Given the description of an element on the screen output the (x, y) to click on. 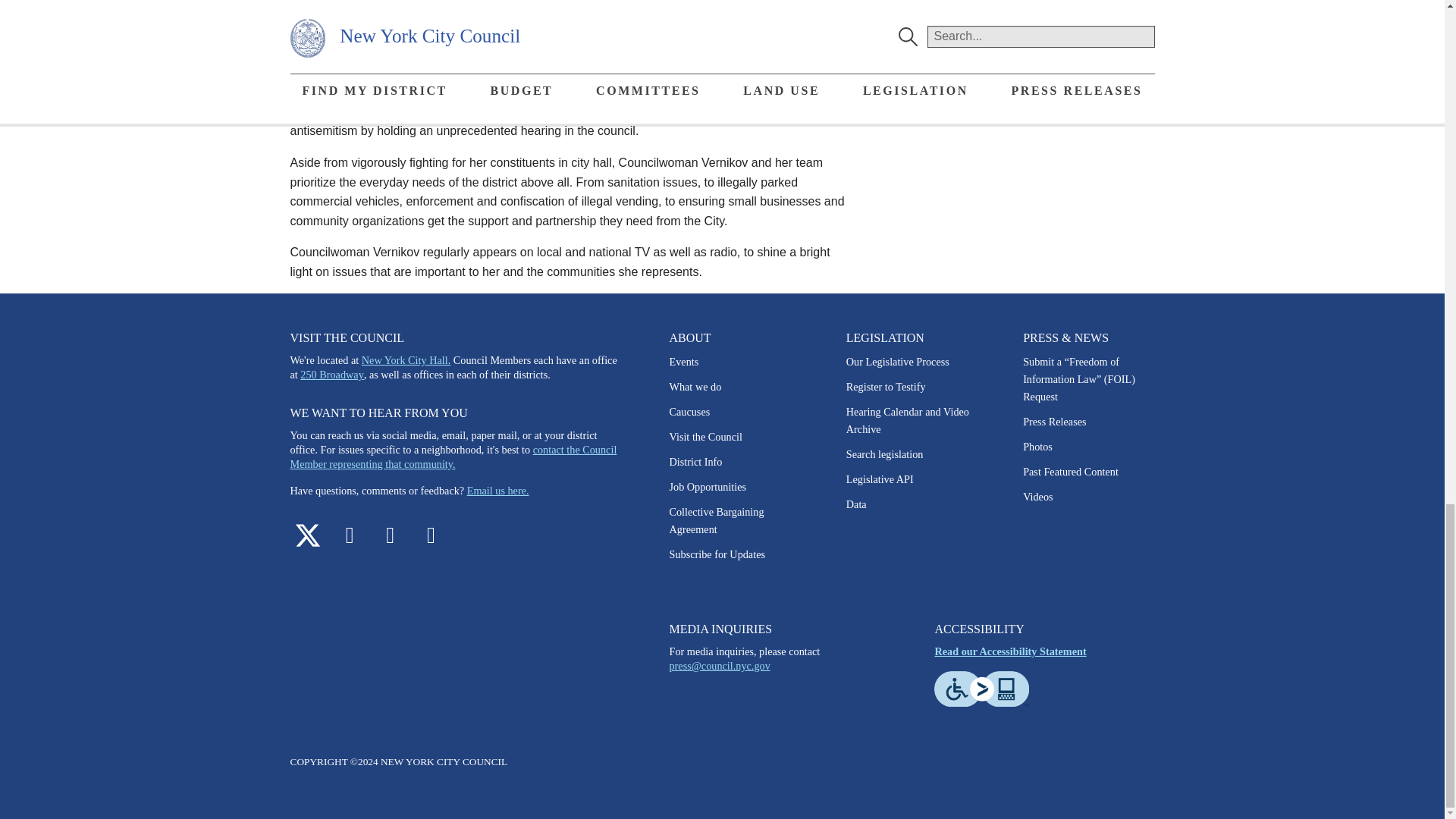
What we do (694, 386)
Subscribe for Updates (716, 553)
Events (683, 361)
Collective Bargaining Agreement (715, 520)
Caucuses (689, 411)
Email us here. (498, 490)
District Info (695, 461)
contact the Council Member representing that community. (452, 456)
250 Broadway (330, 374)
Our Legislative Process (897, 361)
Job Opportunities (706, 486)
Register to Testify (885, 386)
Visit the Council (704, 436)
Hearing Calendar and Video Archive (907, 419)
Legislative API (879, 479)
